Given the description of an element on the screen output the (x, y) to click on. 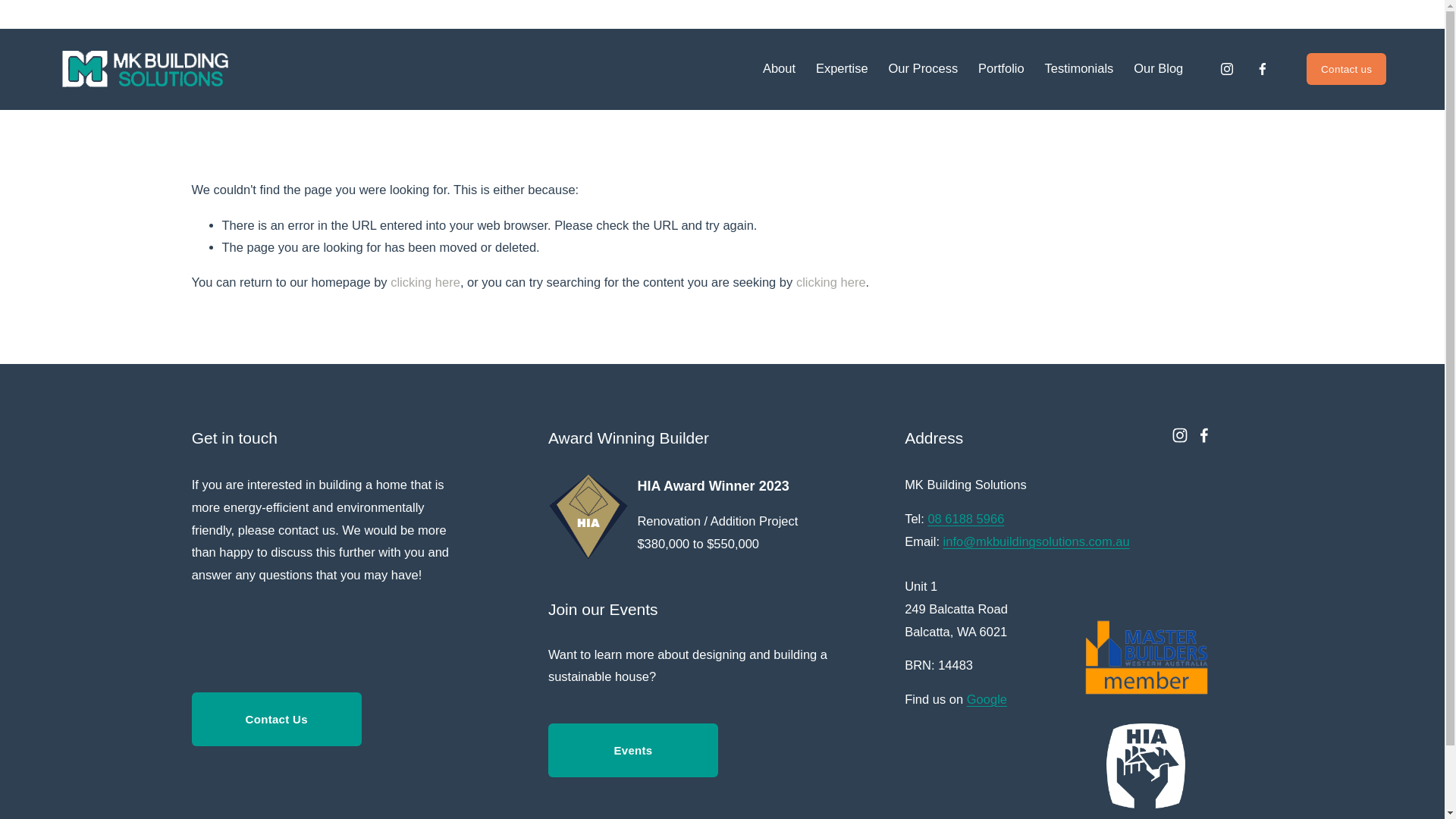
Our Process Element type: text (923, 68)
Portfolio Element type: text (1001, 68)
Contact Us Element type: text (276, 719)
Expertise Element type: text (841, 68)
Google Element type: text (986, 699)
Testimonials Element type: text (1078, 68)
Contact us Element type: text (1346, 68)
Events Element type: text (633, 750)
clicking here Element type: text (425, 281)
clicking here Element type: text (831, 281)
08 6188 5966 Element type: text (965, 519)
About Element type: text (778, 68)
info@mkbuildingsolutions.com.au Element type: text (1036, 541)
Our Blog Element type: text (1158, 68)
